Given the description of an element on the screen output the (x, y) to click on. 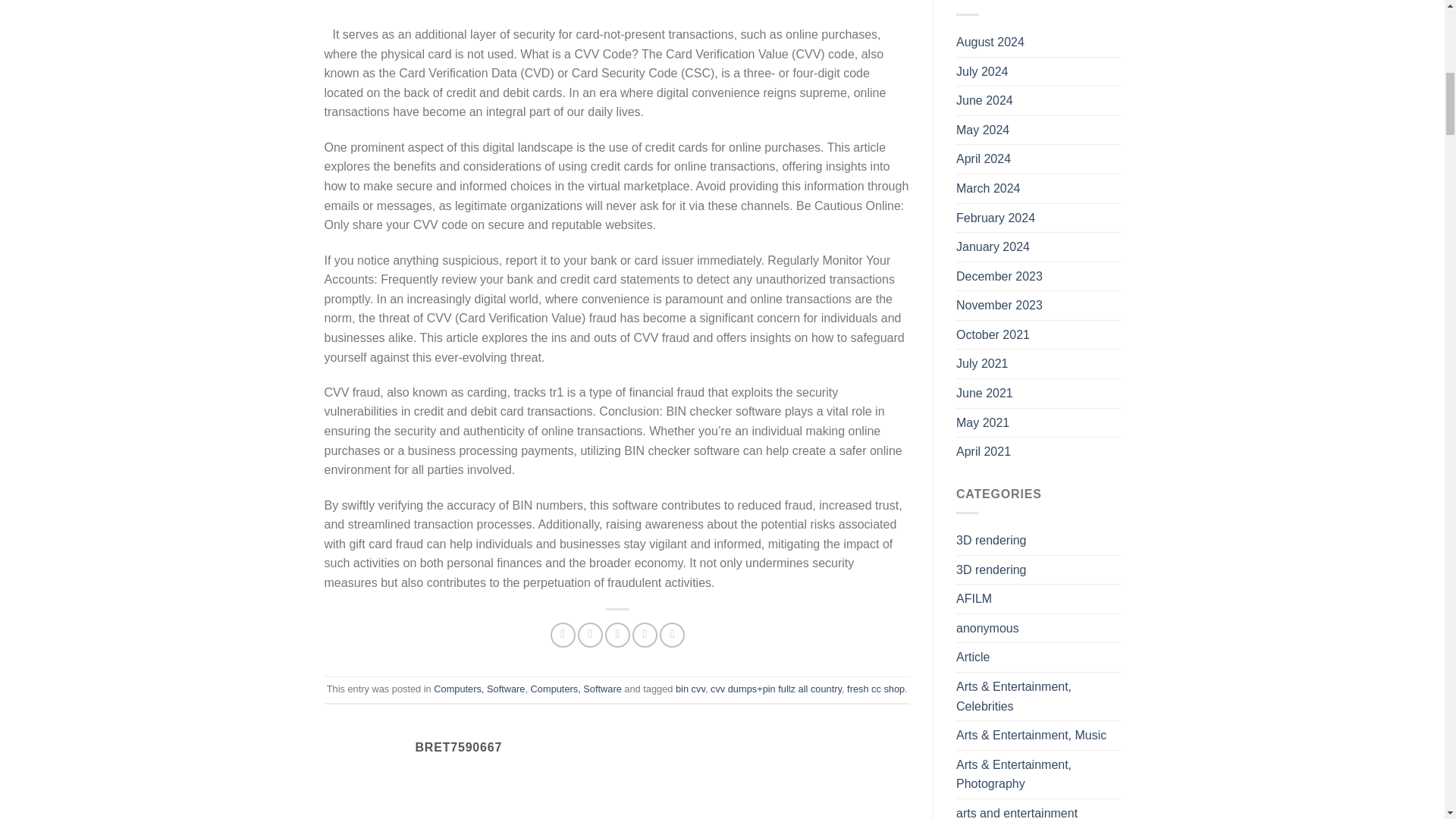
3D rendering (991, 540)
AFILM (973, 598)
Share on LinkedIn (671, 634)
Computers, Software (576, 688)
Computers, Software (478, 688)
bin cvv (689, 688)
Email to a Friend (617, 634)
anonymous (987, 628)
Share on Facebook (562, 634)
